Given the description of an element on the screen output the (x, y) to click on. 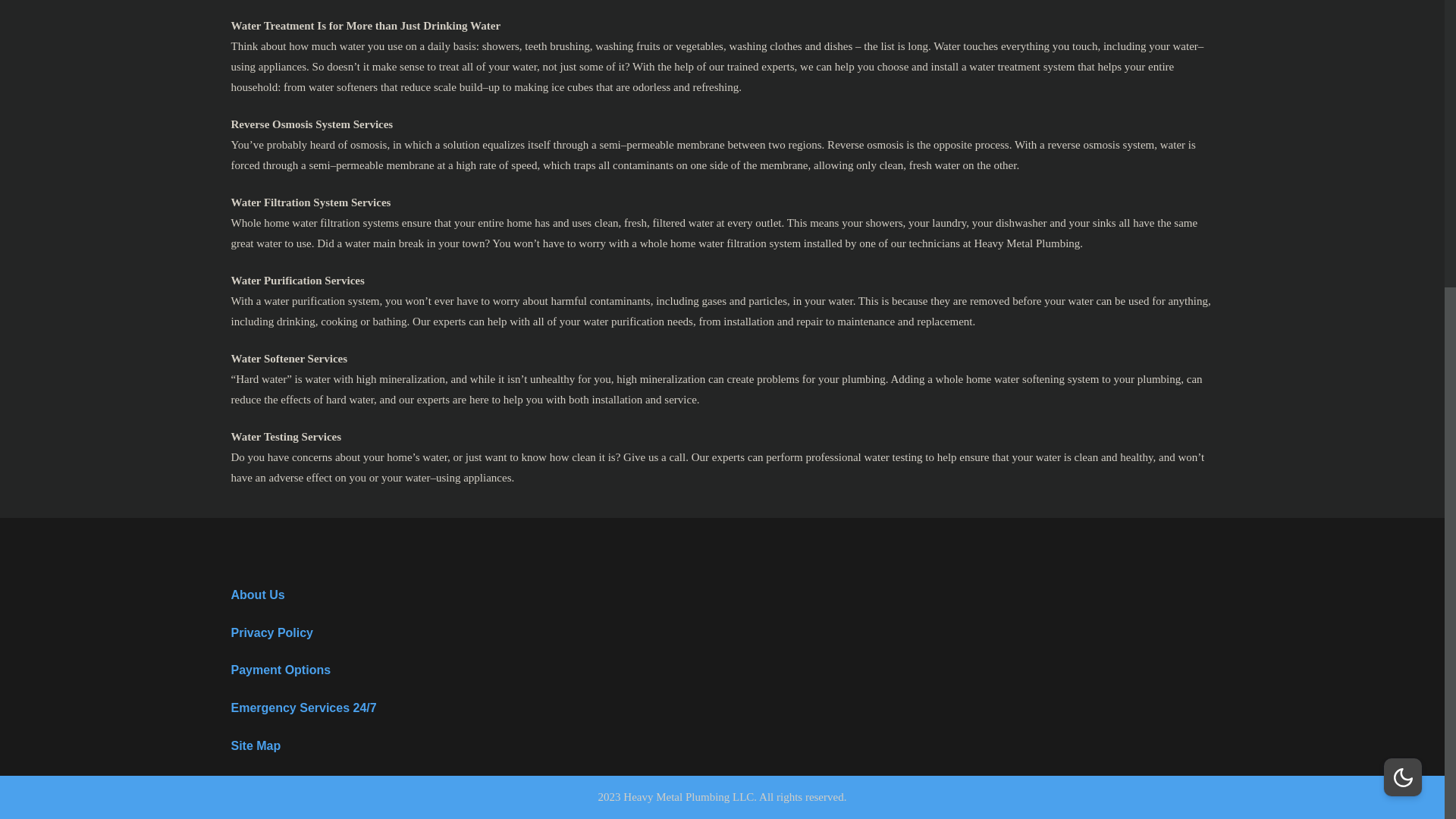
About Us (256, 594)
Site Map (255, 745)
Payment Options (280, 669)
Privacy Policy (271, 632)
